Given the description of an element on the screen output the (x, y) to click on. 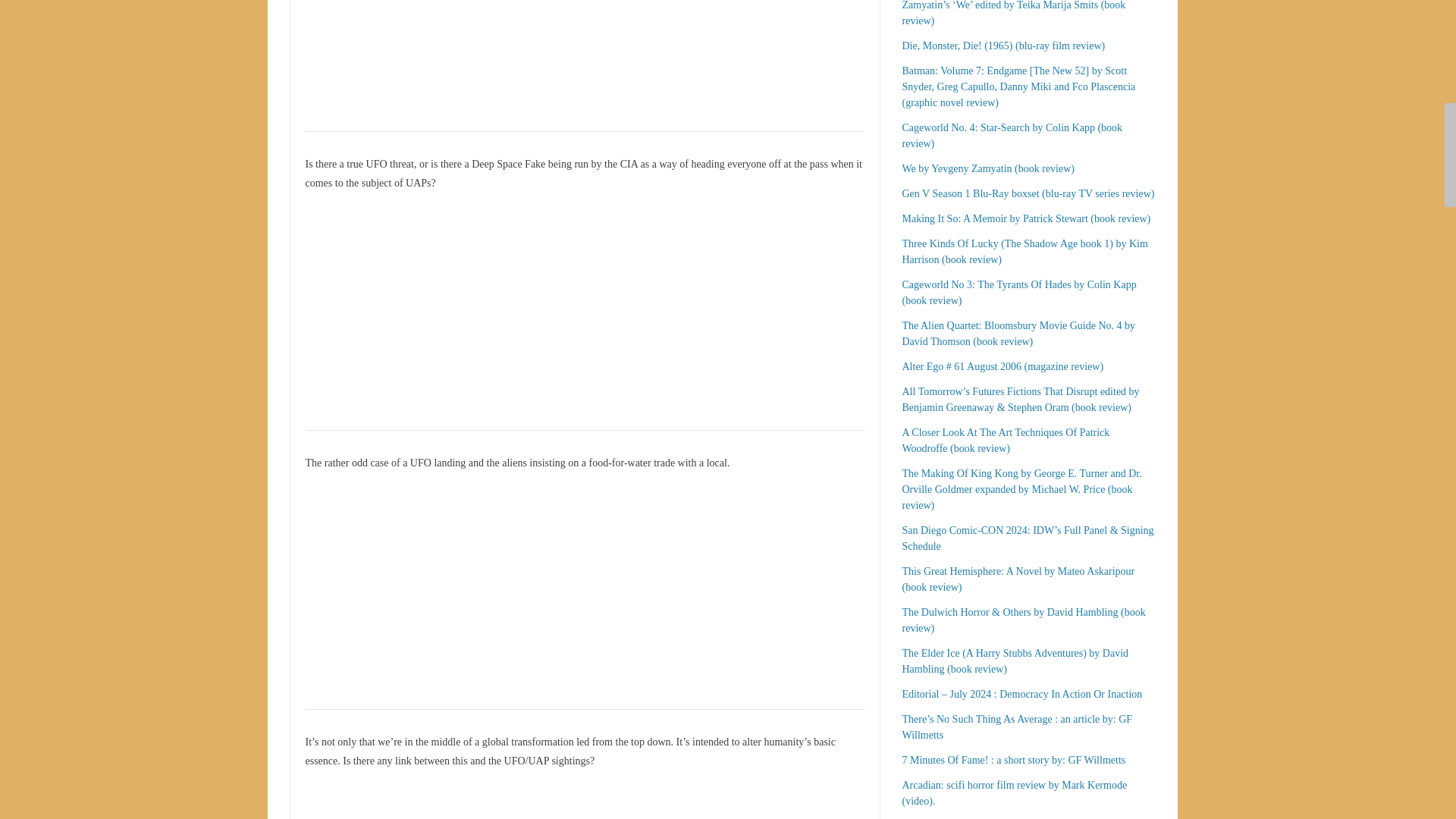
YouTube video player (475, 51)
YouTube video player (475, 584)
YouTube video player (475, 305)
YouTube video player (475, 803)
